Given the description of an element on the screen output the (x, y) to click on. 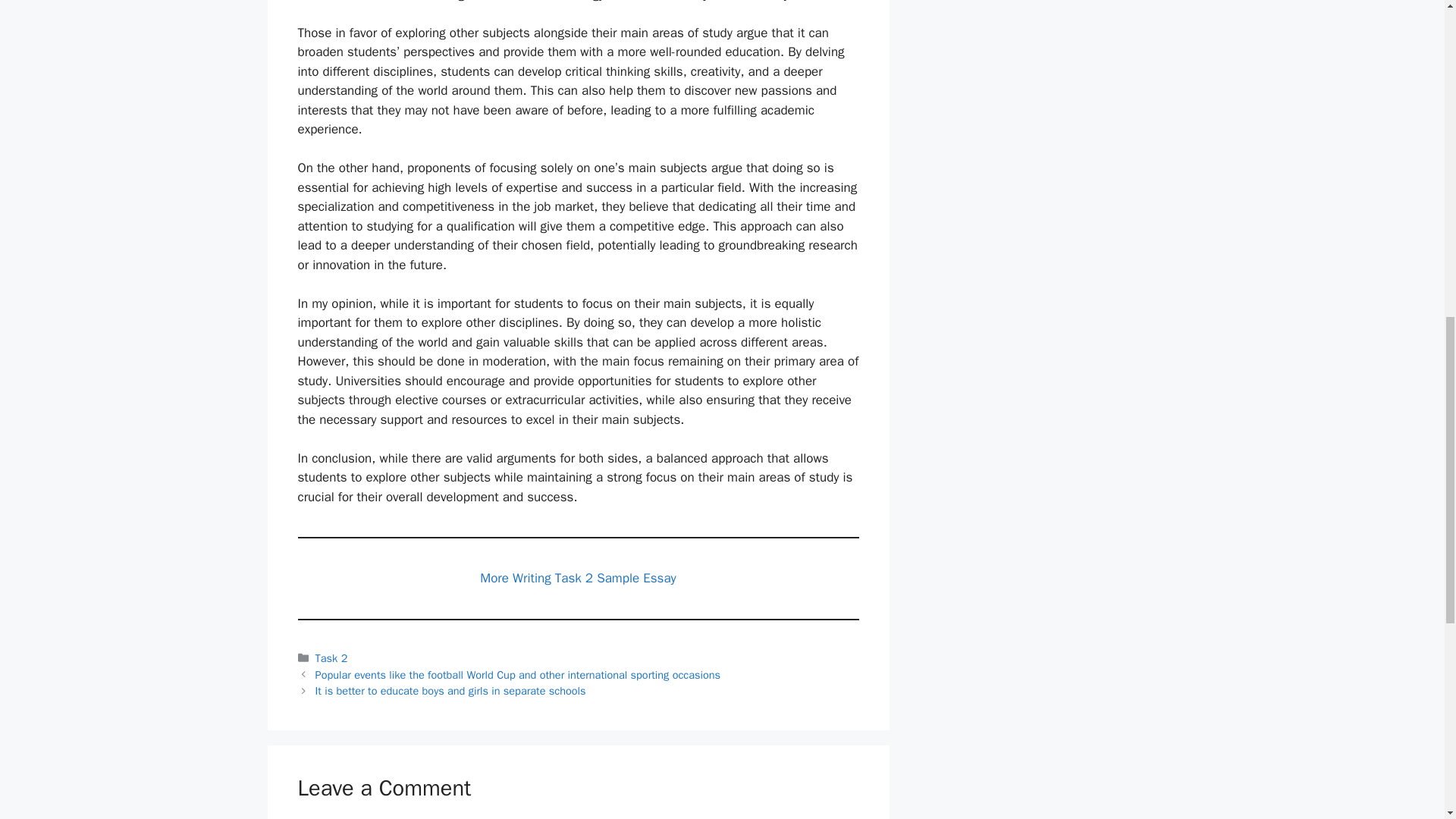
More Writing Task 2 Sample Essay (577, 578)
It is better to educate boys and girls in separate schools (450, 690)
Task 2 (331, 658)
